Given the description of an element on the screen output the (x, y) to click on. 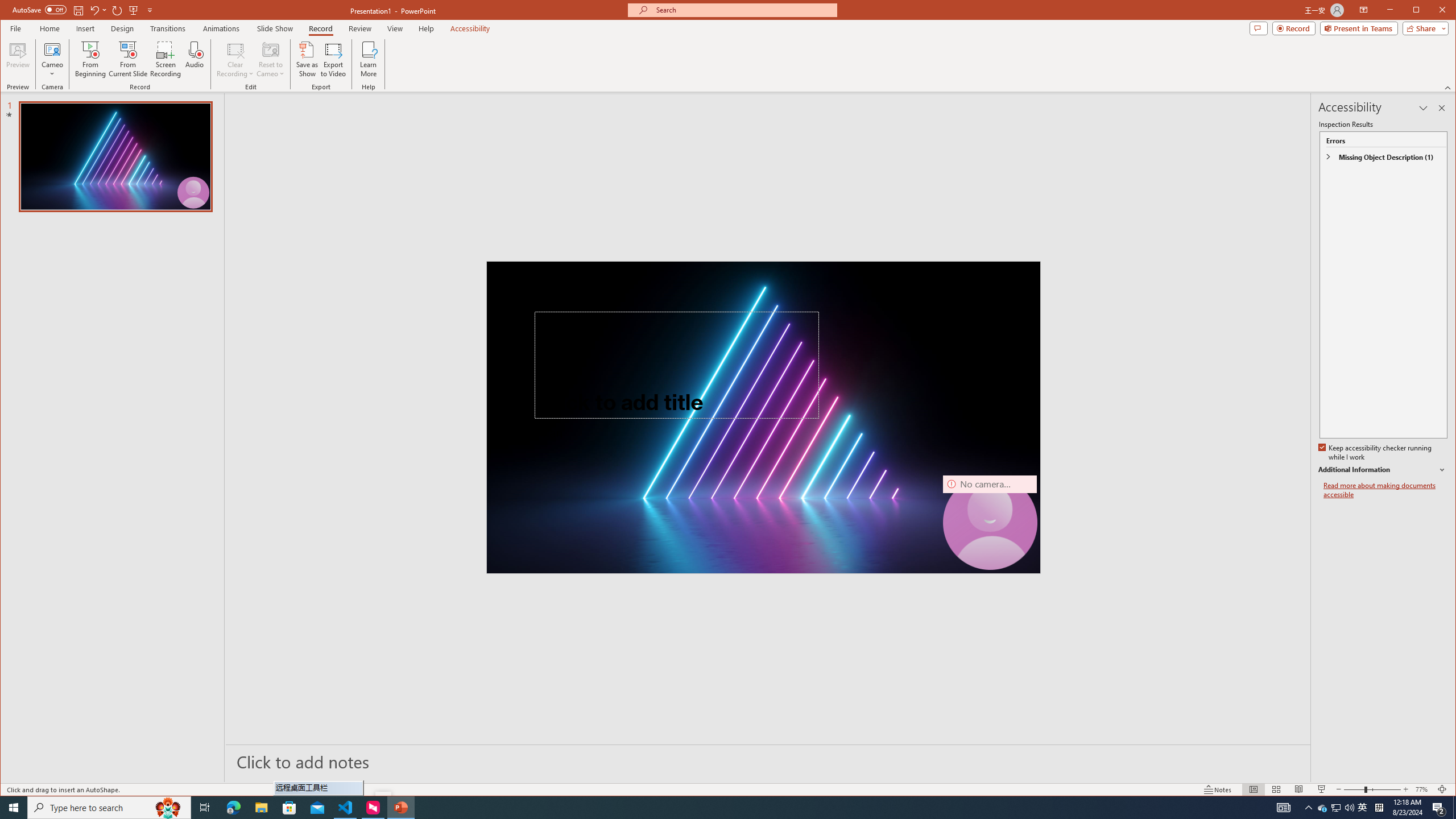
Subtitle TextBox (649, 466)
